Given the description of an element on the screen output the (x, y) to click on. 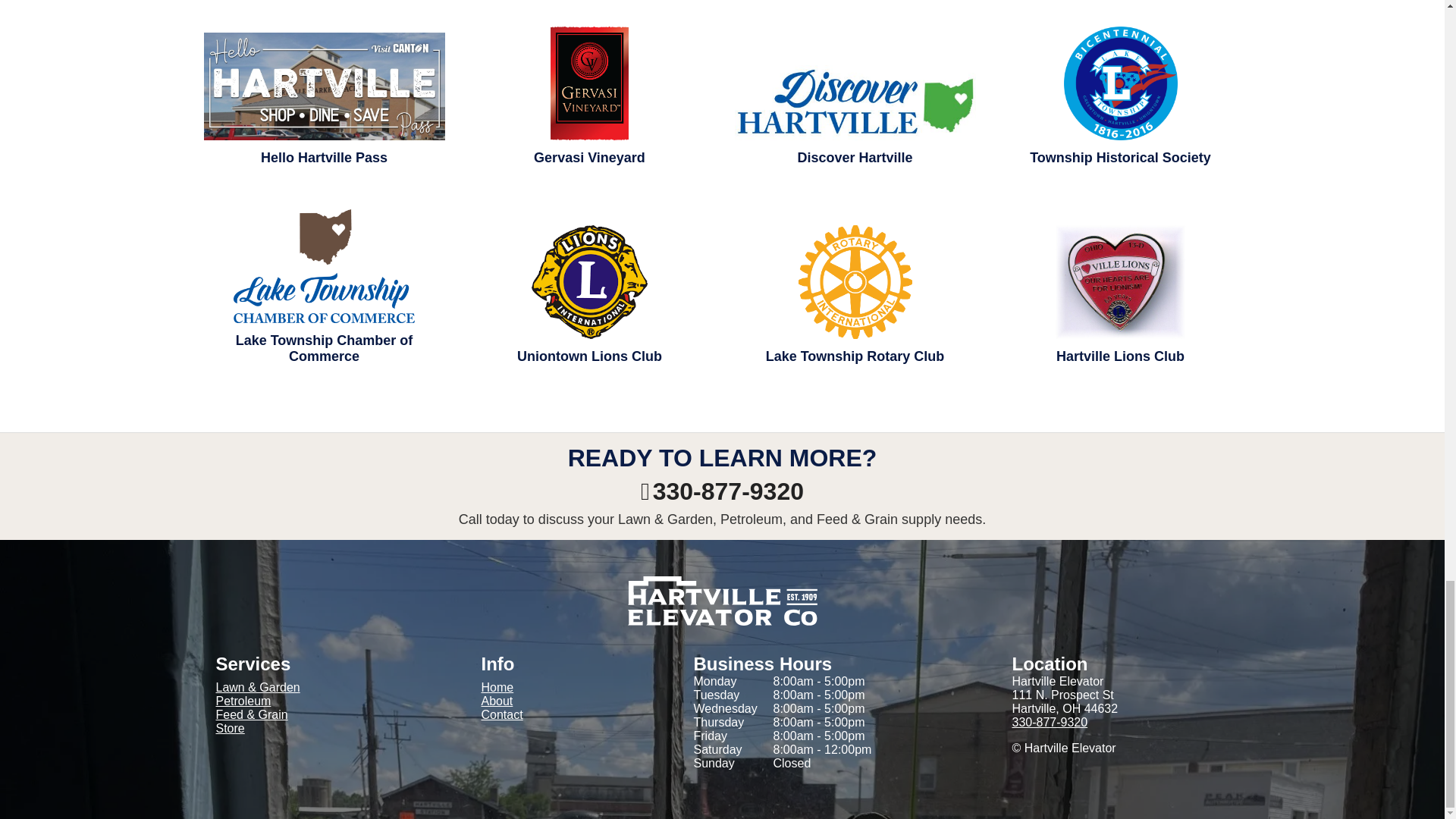
330-877-9320 (1049, 721)
About (562, 701)
Contact (562, 714)
Store (229, 727)
330-877-9320 (721, 491)
Petroleum (242, 700)
Home (562, 687)
